Given the description of an element on the screen output the (x, y) to click on. 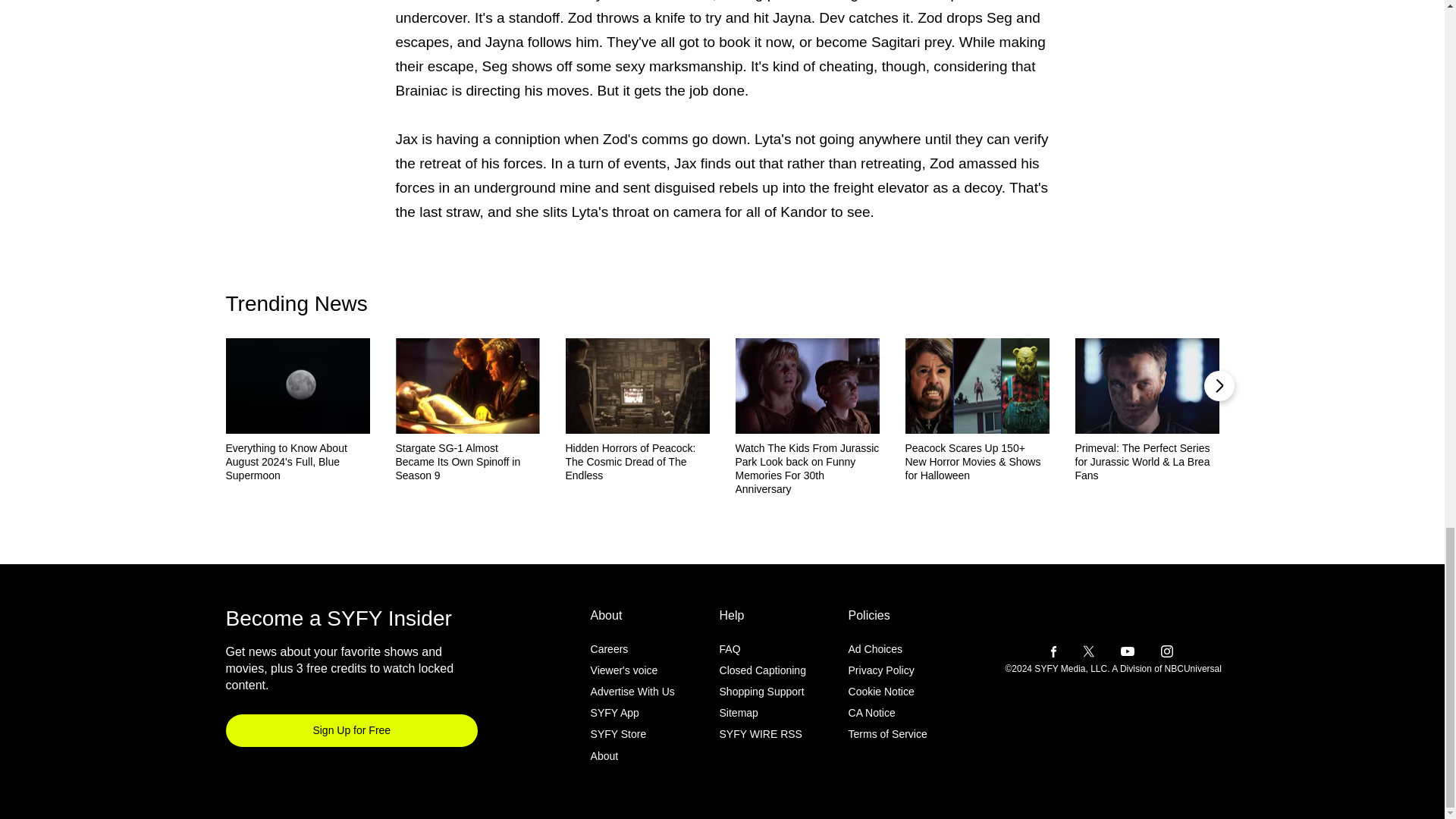
Hidden Horrors of Peacock: The Cosmic Dread of The Endless (638, 461)
Stargate SG-1 Almost Became Its Own Spinoff in Season 9 (468, 461)
Advertise With Us (633, 691)
Everything to Know About August 2024's Full, Blue Supermoon (297, 461)
